Given the description of an element on the screen output the (x, y) to click on. 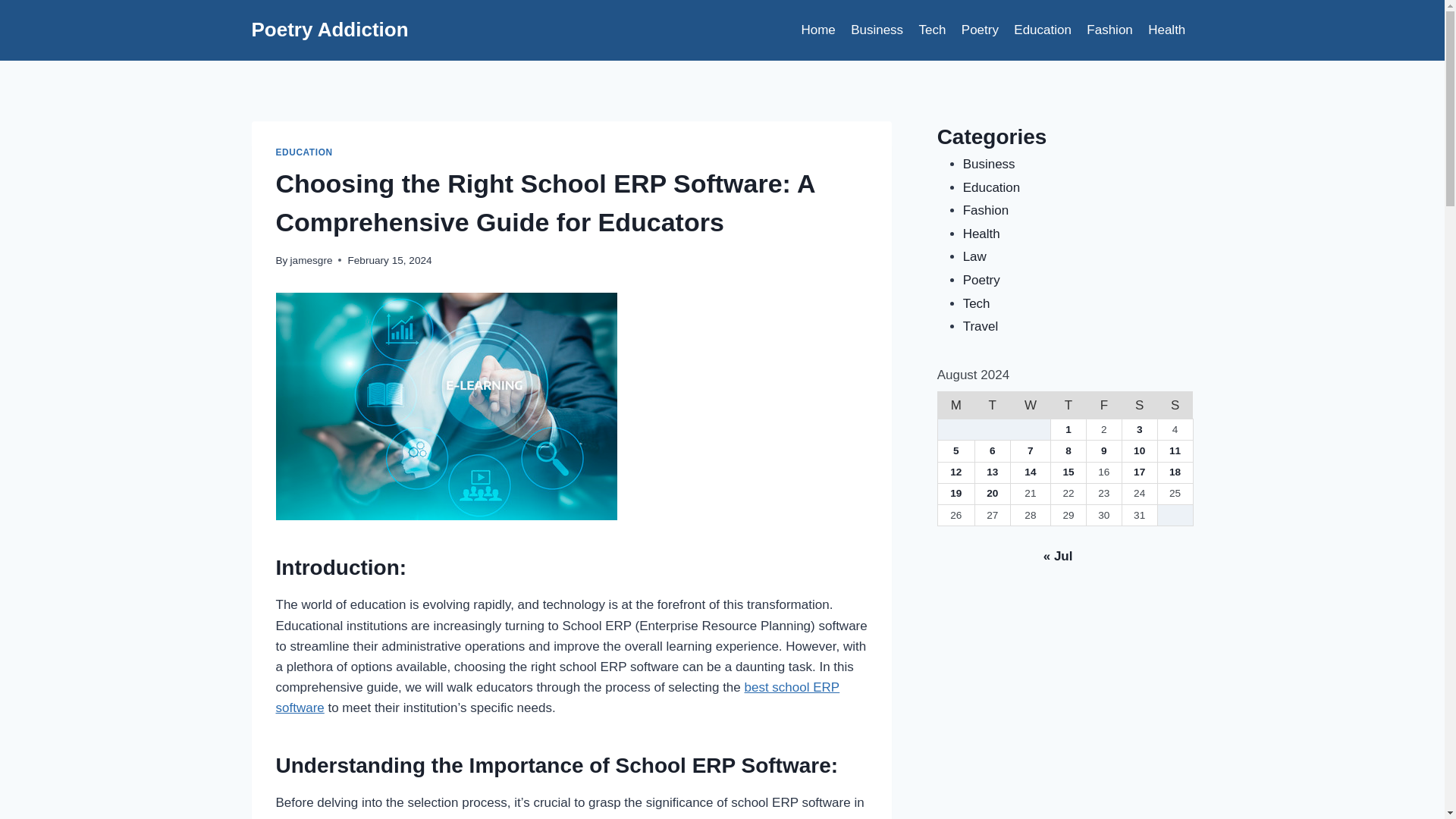
Business (877, 30)
Tuesday (992, 404)
jamesgre (311, 260)
Education (1042, 30)
Monday (955, 404)
Poetry Addiction (330, 29)
Fashion (1109, 30)
Sunday (1174, 404)
Health (1166, 30)
Home (818, 30)
